Given the description of an element on the screen output the (x, y) to click on. 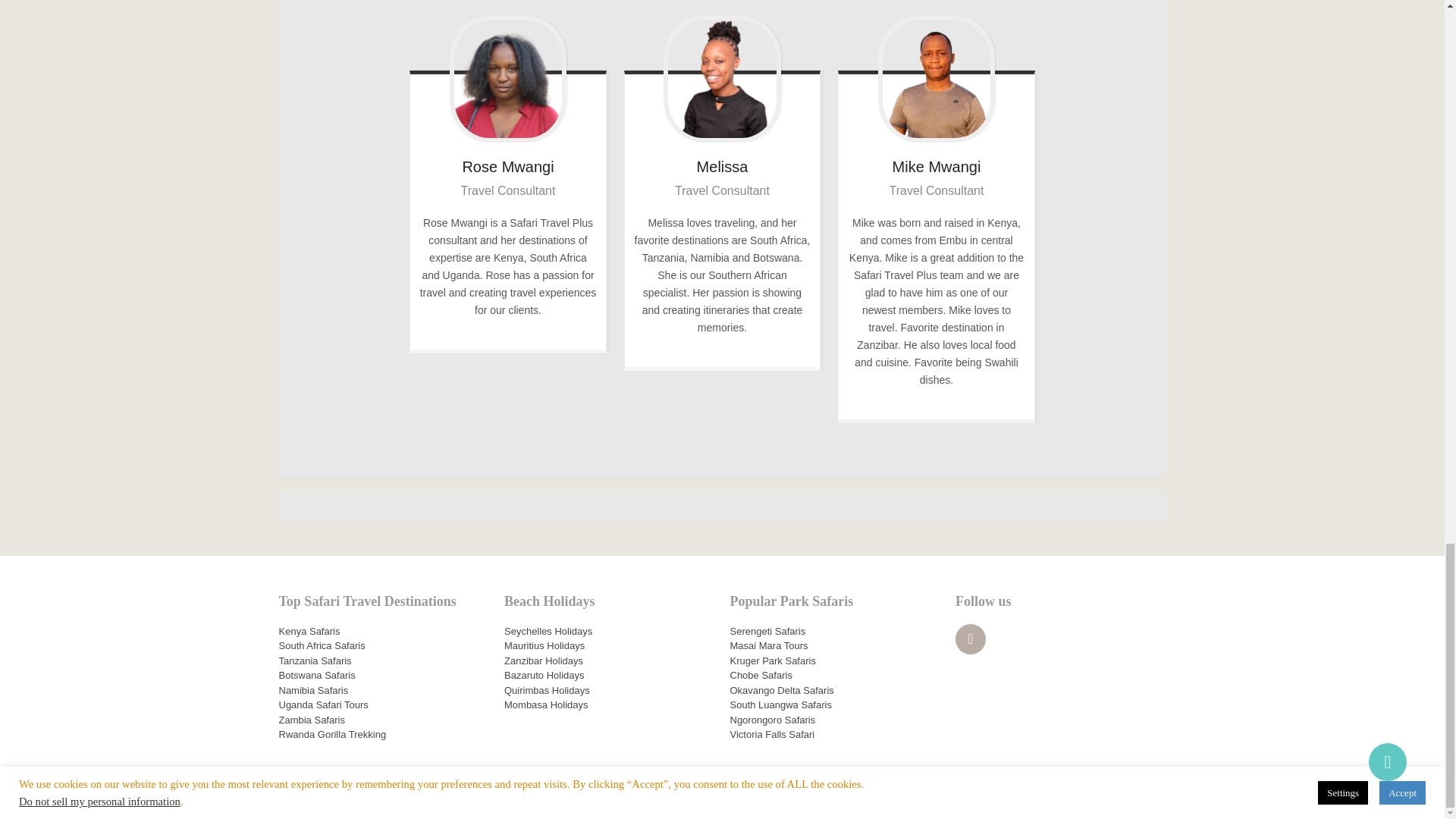
youtube (970, 639)
